Given the description of an element on the screen output the (x, y) to click on. 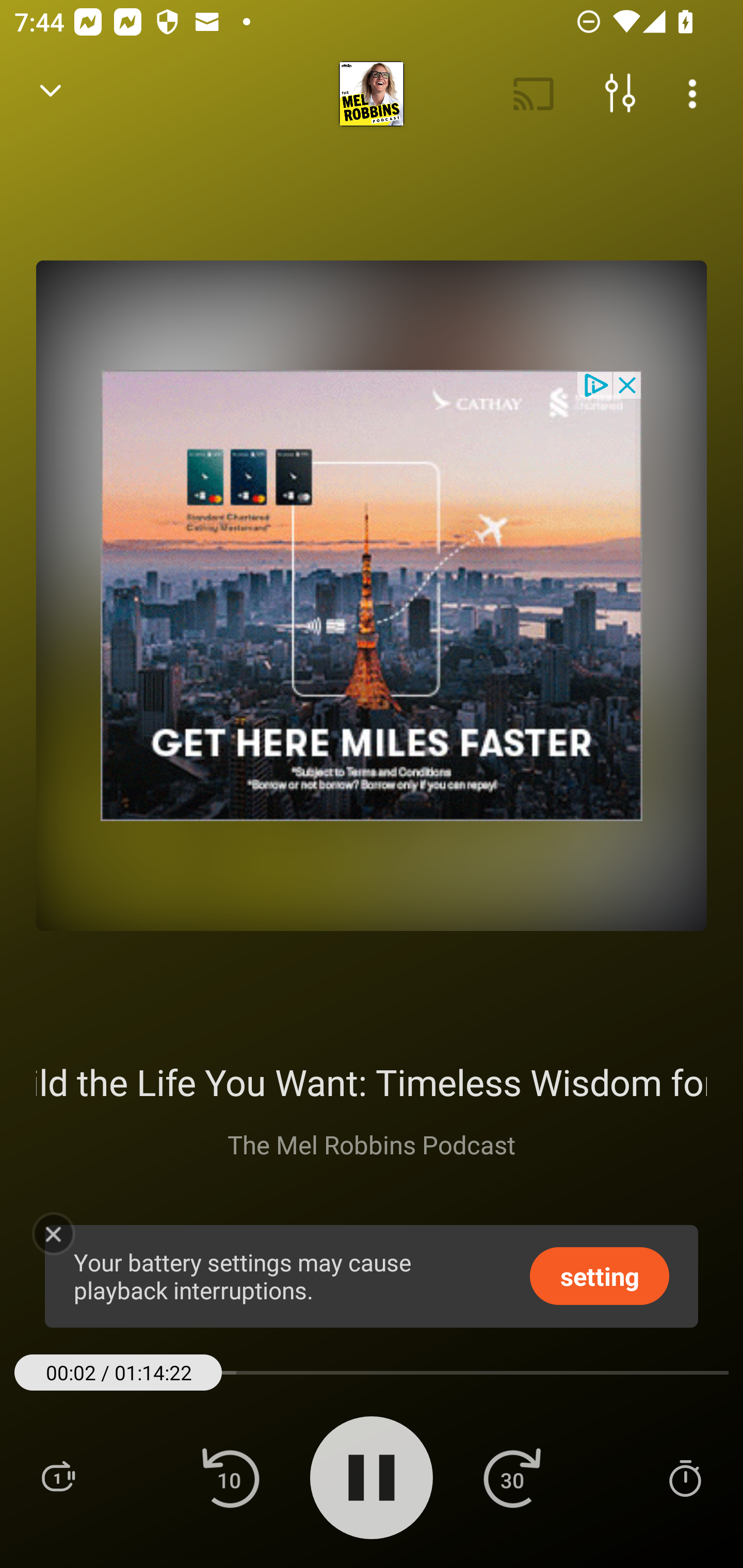
Cast. Disconnected (533, 93)
 Back (50, 94)
privacy_small (595, 384)
close_button (627, 384)
The Mel Robbins Podcast (371, 1144)
setting (599, 1275)
 Playlist (57, 1477)
Sleep Timer  (684, 1477)
